Given the description of an element on the screen output the (x, y) to click on. 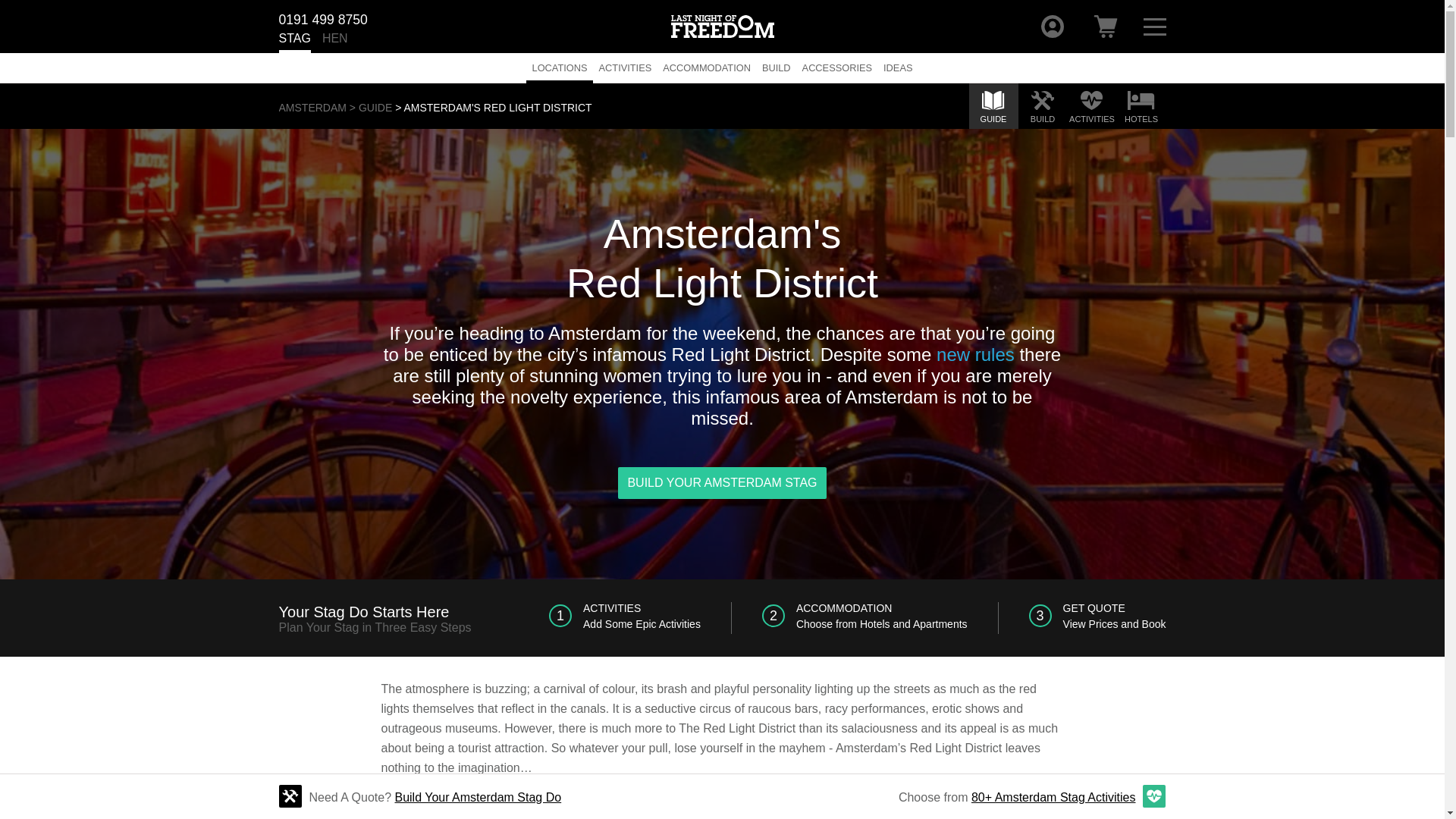
MyLNOF Login (1051, 26)
STAG (295, 42)
HEN (334, 42)
LNOF Home (721, 26)
Shopping Cart (1105, 26)
0191 499 8750 (323, 15)
LOCATIONS (558, 68)
